Given the description of an element on the screen output the (x, y) to click on. 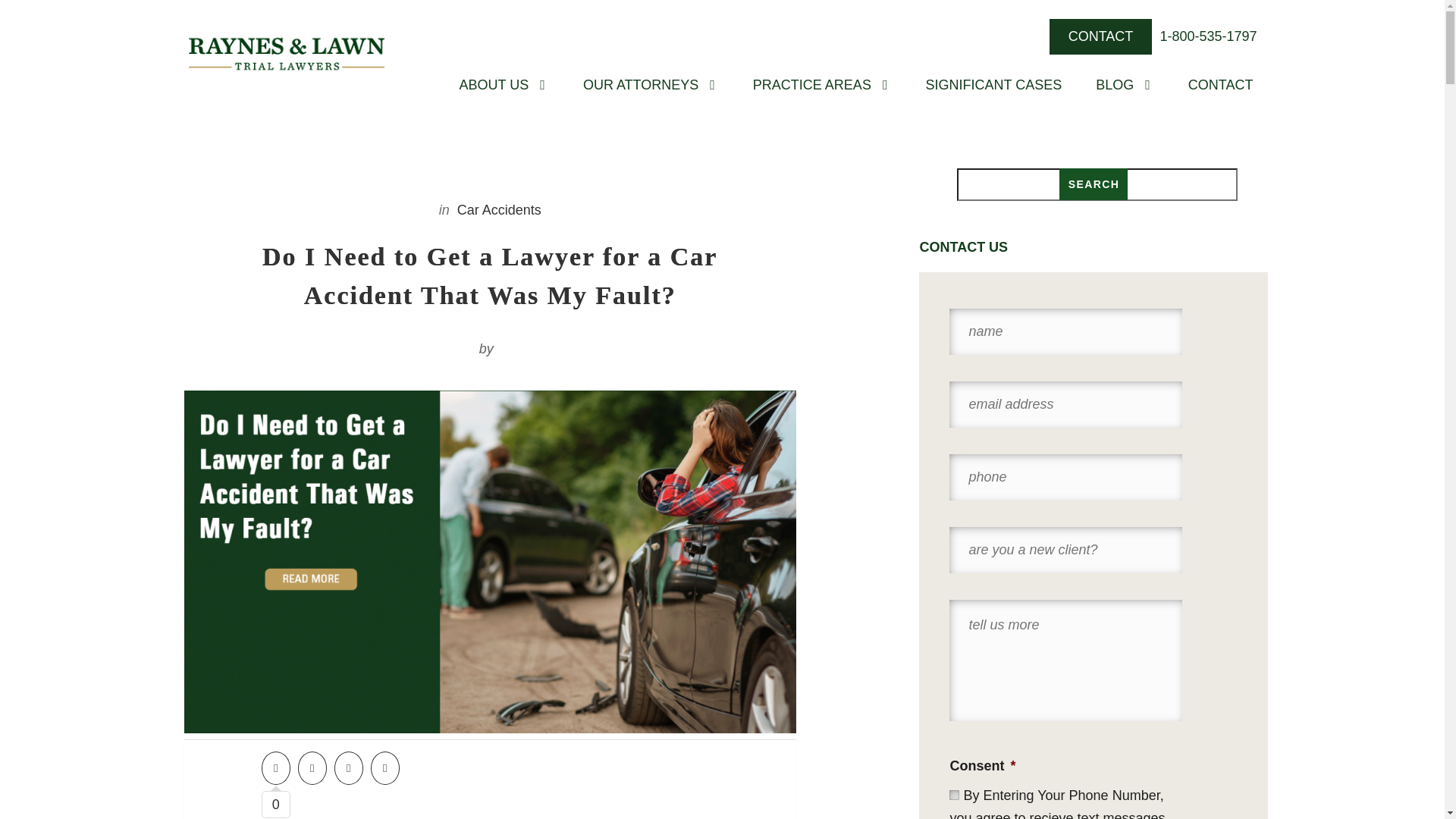
1 (954, 795)
CONTACT (1101, 36)
OUR ATTORNEYS (640, 84)
Search (1092, 183)
PRACTICE AREAS (812, 84)
ABOUT US (493, 84)
1-800-535-1797 (1207, 36)
